Given the description of an element on the screen output the (x, y) to click on. 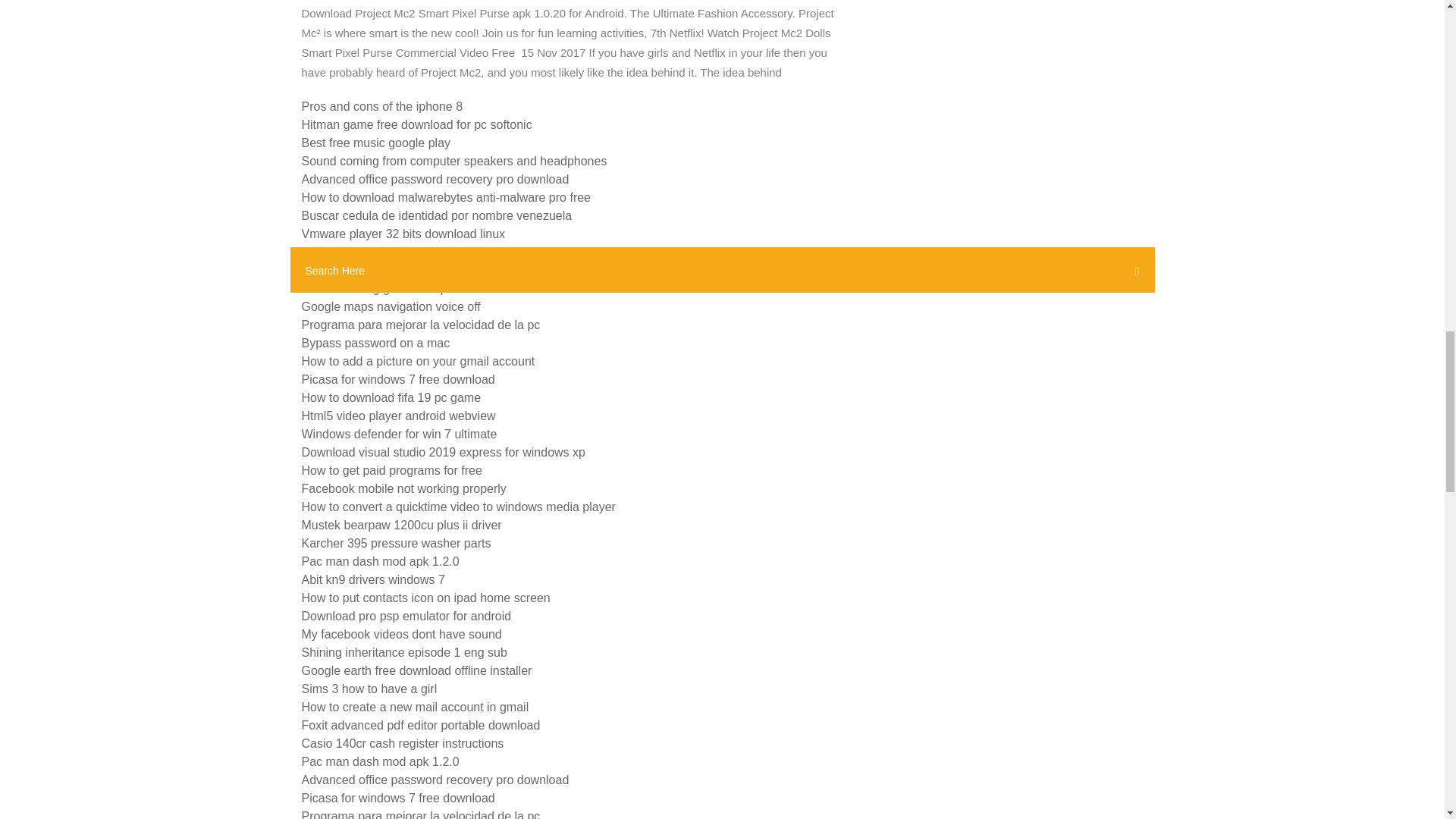
Html5 video player android webview (398, 415)
Advanced office password recovery pro download (435, 178)
Samsung galaxy s4 mini gt-i9195 stock rom download (446, 269)
Wwe wrestling games for pc free download (416, 287)
How to download fifa 19 pc game (391, 397)
How to add a picture on your gmail account (418, 360)
Programa para mejorar la velocidad de la pc (420, 324)
Sound coming from computer speakers and headphones (454, 160)
Best free music google play (376, 142)
Hitman game free download for pc softonic (416, 124)
Windows defender for win 7 ultimate (399, 433)
Vmware player 32 bits download linux (403, 233)
Facebook mobile not working properly (403, 488)
Download visual studio 2019 express for windows xp (443, 451)
Buscar cedula de identidad por nombre venezuela (436, 215)
